Given the description of an element on the screen output the (x, y) to click on. 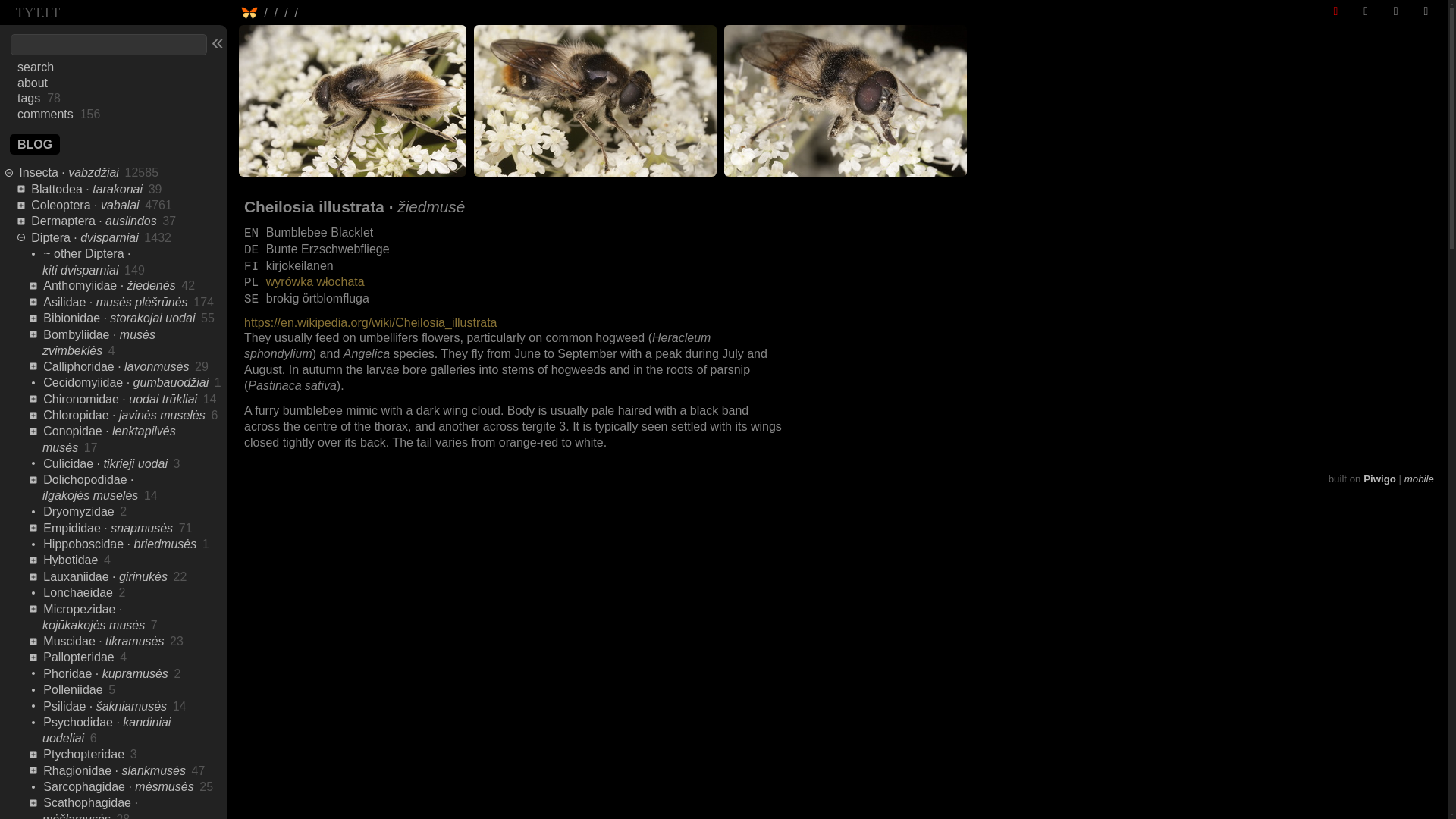
TYT.LT (38, 12)
TYT.LT blog (34, 144)
tags (28, 97)
BLOG (34, 144)
TYT.LT photo gallery (38, 12)
about TYT.LT photo gallery (32, 82)
search (35, 66)
search (35, 66)
4761 photos in 429 albums (155, 205)
about (32, 82)
